Given the description of an element on the screen output the (x, y) to click on. 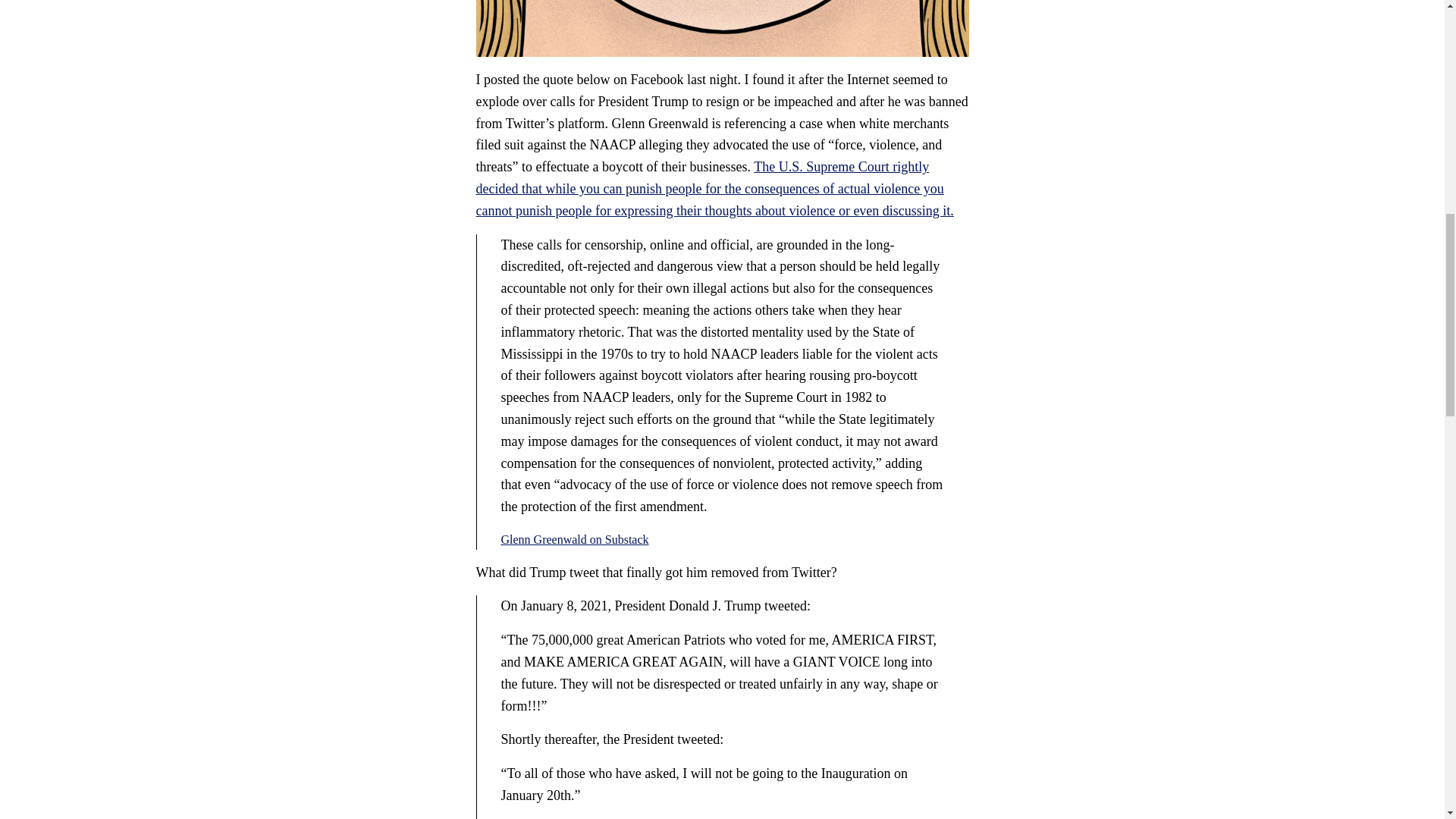
Glenn Greenwald on Substack (573, 539)
